Given the description of an element on the screen output the (x, y) to click on. 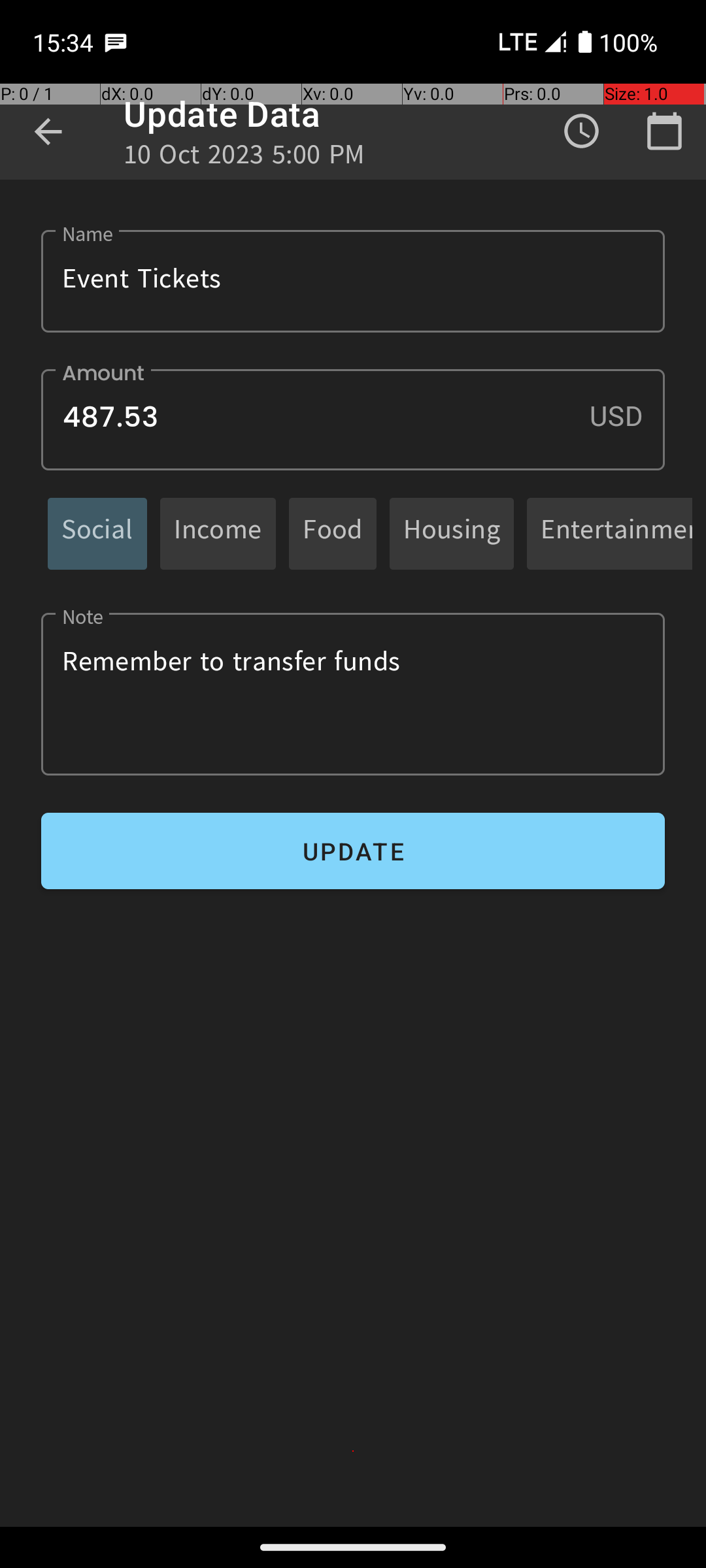
10 Oct 2023 5:00 PM Element type: android.widget.TextView (244, 157)
Event Tickets Element type: android.widget.EditText (352, 280)
487.53 Element type: android.widget.EditText (352, 419)
